Given the description of an element on the screen output the (x, y) to click on. 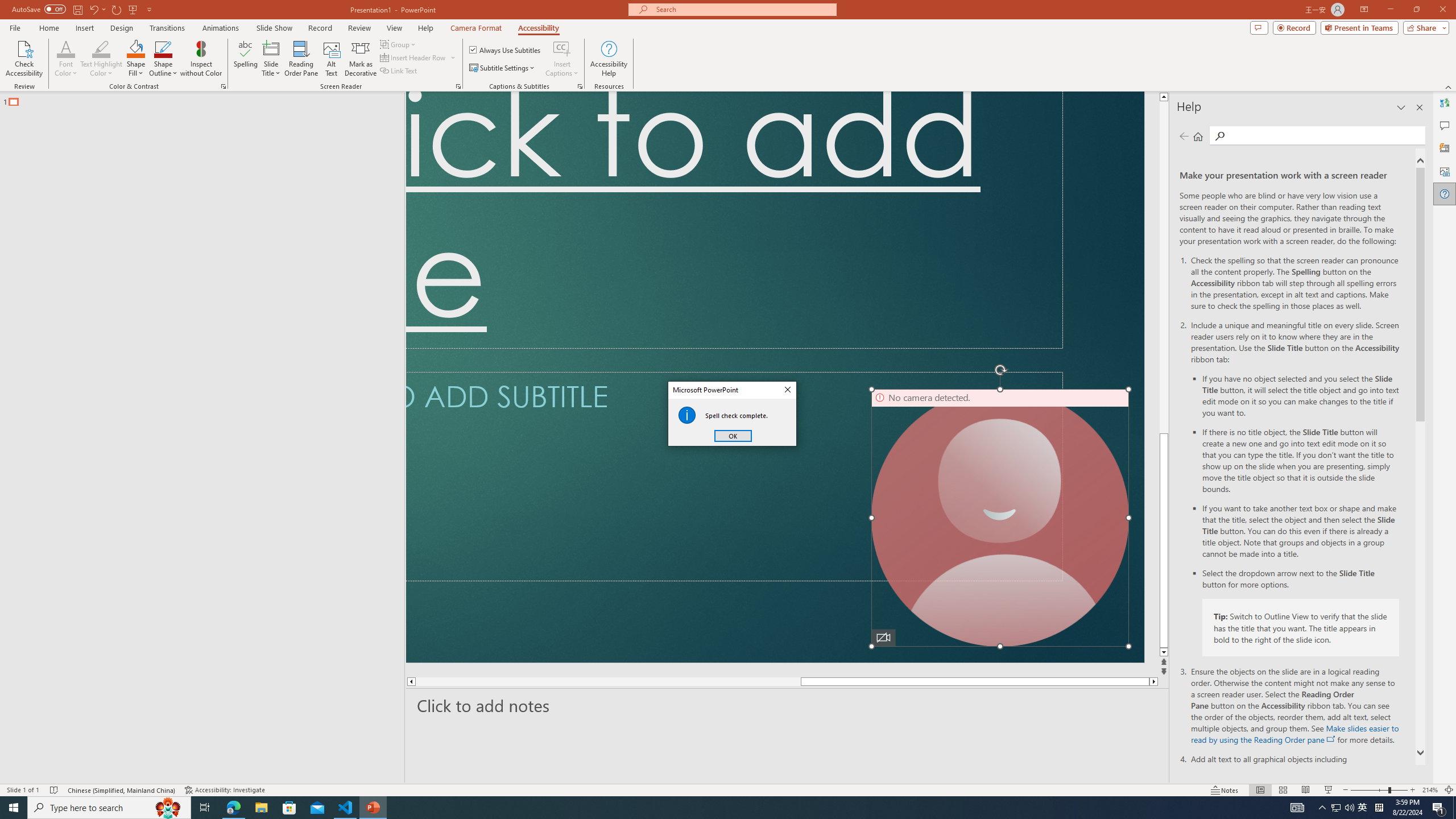
Previous page (1183, 136)
Group (398, 44)
Insert Captions (561, 48)
Slide Title (271, 58)
